Given the description of an element on the screen output the (x, y) to click on. 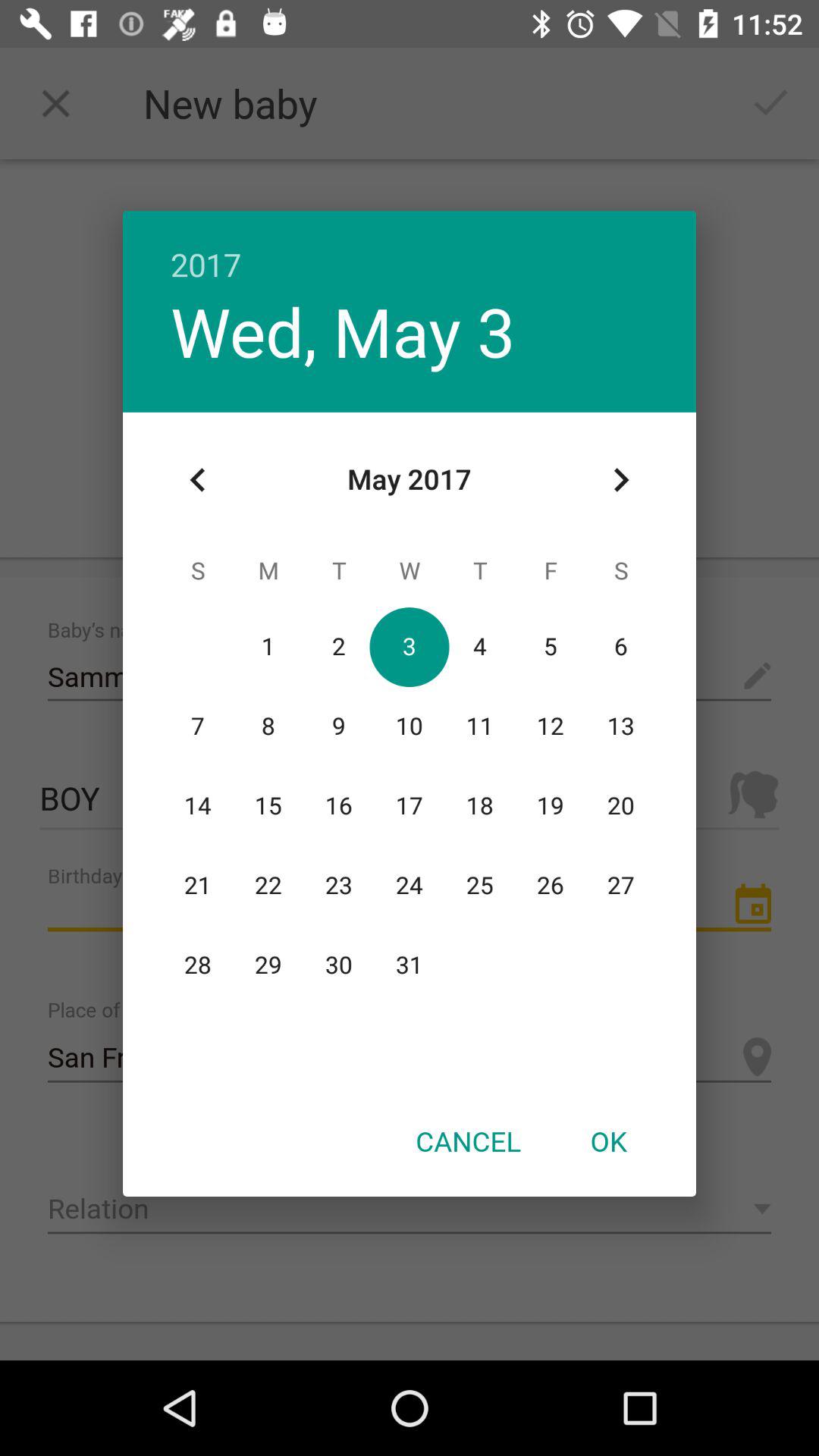
flip until ok icon (608, 1140)
